Given the description of an element on the screen output the (x, y) to click on. 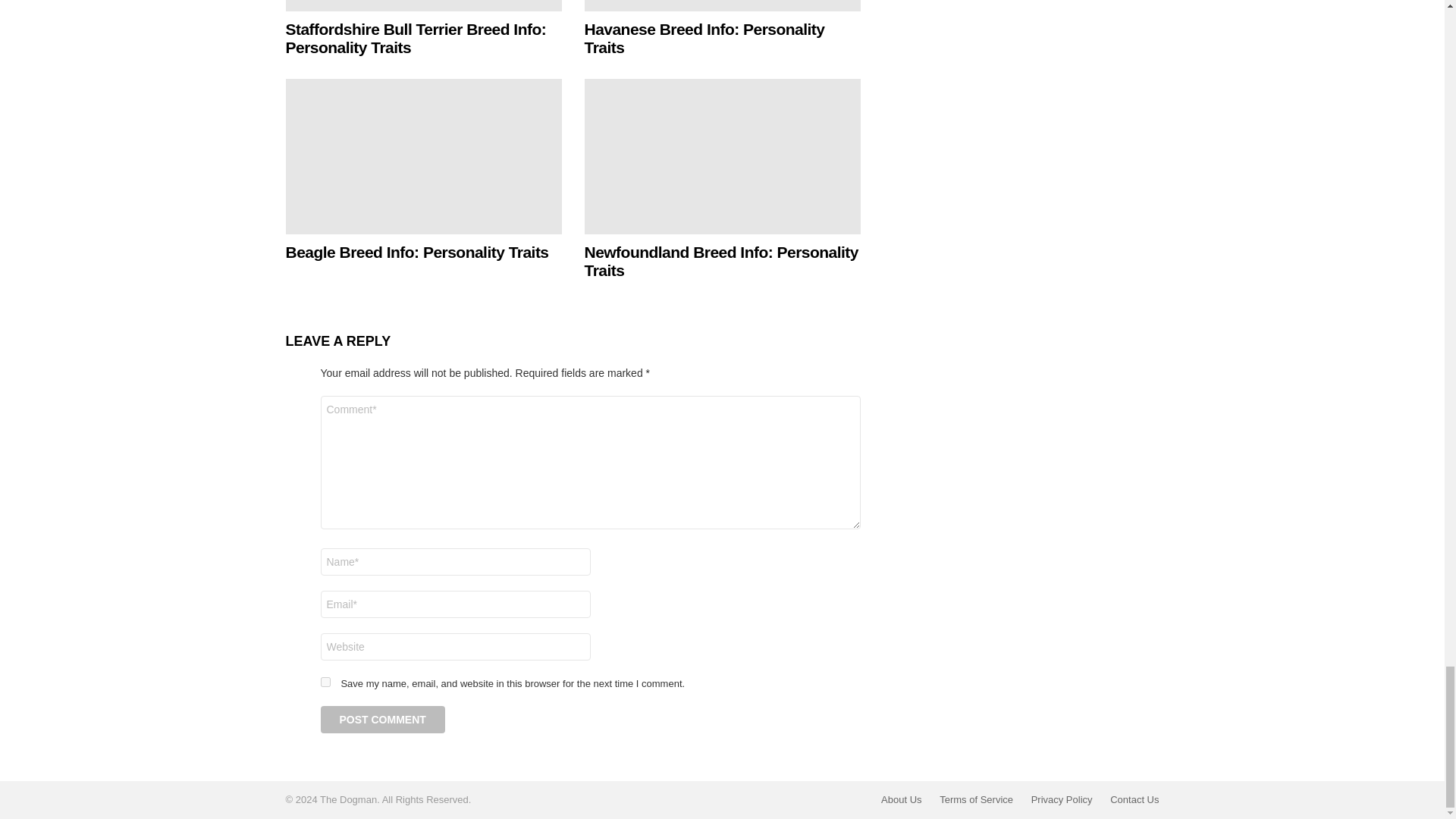
yes (325, 682)
Post Comment (382, 719)
